Given the description of an element on the screen output the (x, y) to click on. 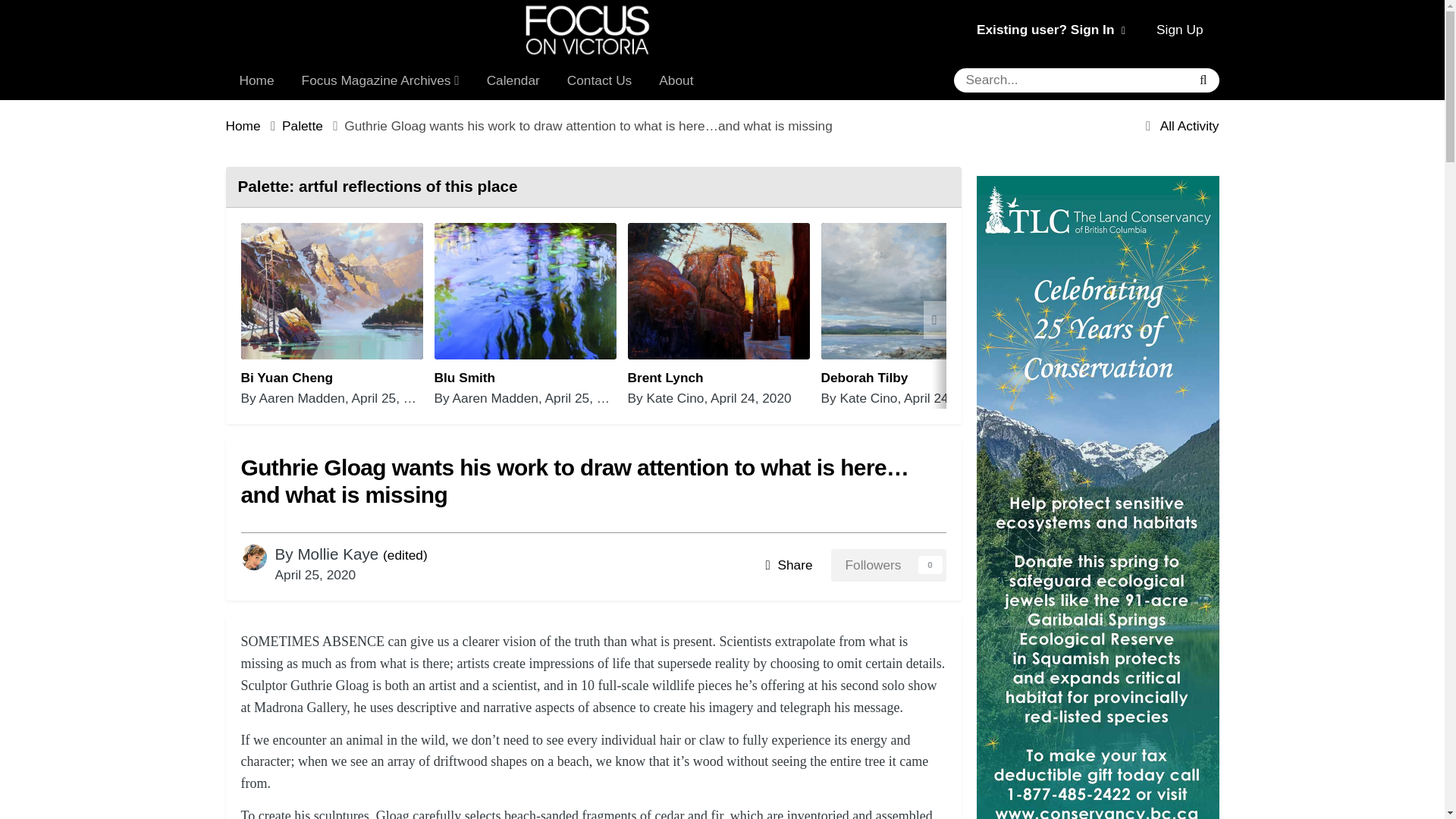
View the image Blu Smith (464, 377)
Go to Kate Cino's profile (868, 397)
2020-04-25 12:52  AM (392, 397)
View the image Bi Yuan Cheng (332, 290)
Go to Kate Cino's profile (674, 397)
Go to Aaren Madden's profile (495, 397)
2020-04-24 10:33  PM (944, 397)
Calendar (513, 79)
View the image Deborah Tilby (864, 377)
View the image Deborah Tilby (912, 290)
